Given the description of an element on the screen output the (x, y) to click on. 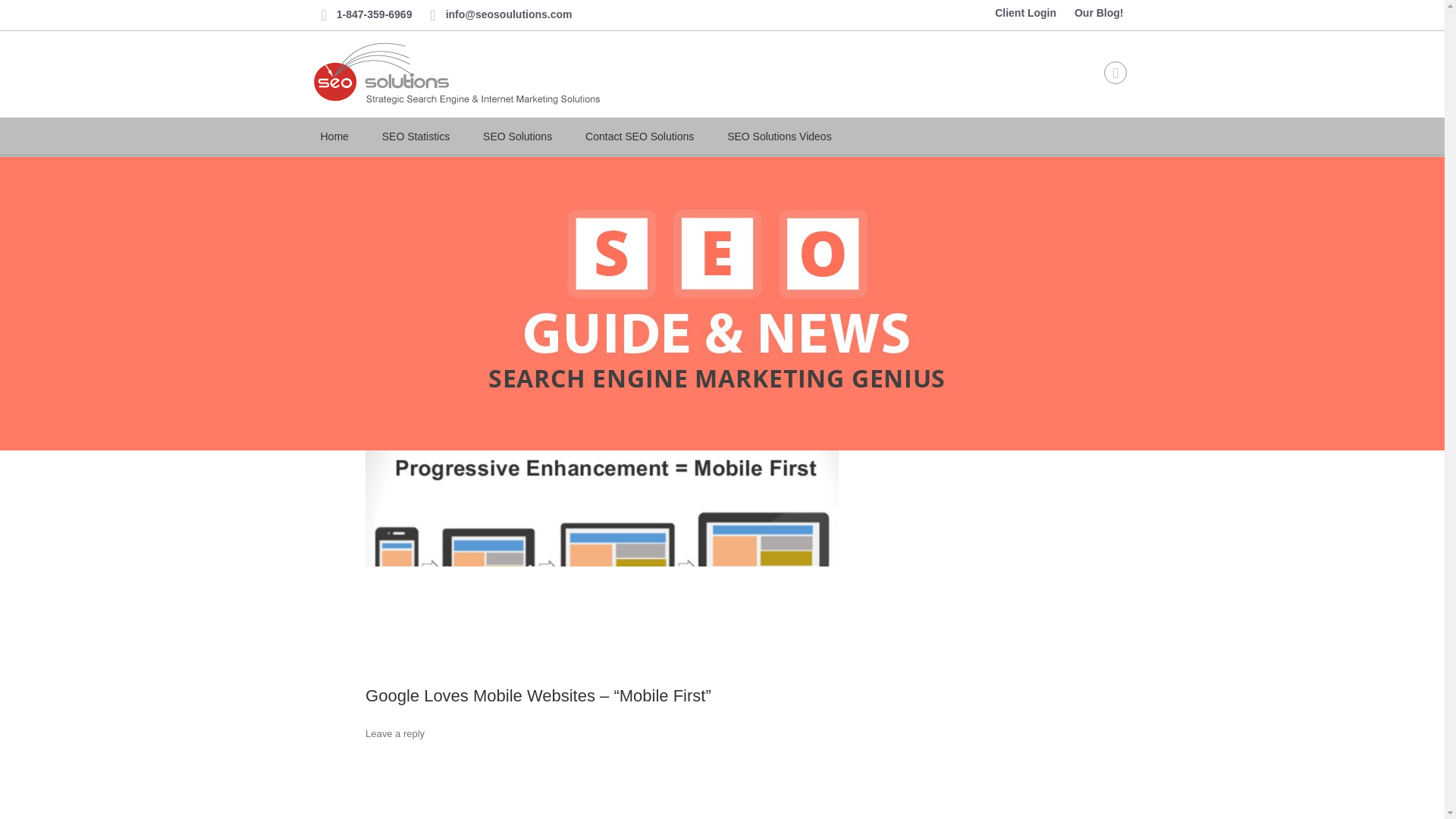
Contact SEO Solutions (639, 137)
SEO SOLUTIONS Website (517, 137)
SEO Solutions Videos (779, 137)
Skip to content (757, 122)
Leave a reply (395, 733)
Client Login (1025, 12)
Our Blog! (1099, 12)
Home (333, 137)
SEO Solutions (517, 137)
SEO Statistics (415, 137)
